Given the description of an element on the screen output the (x, y) to click on. 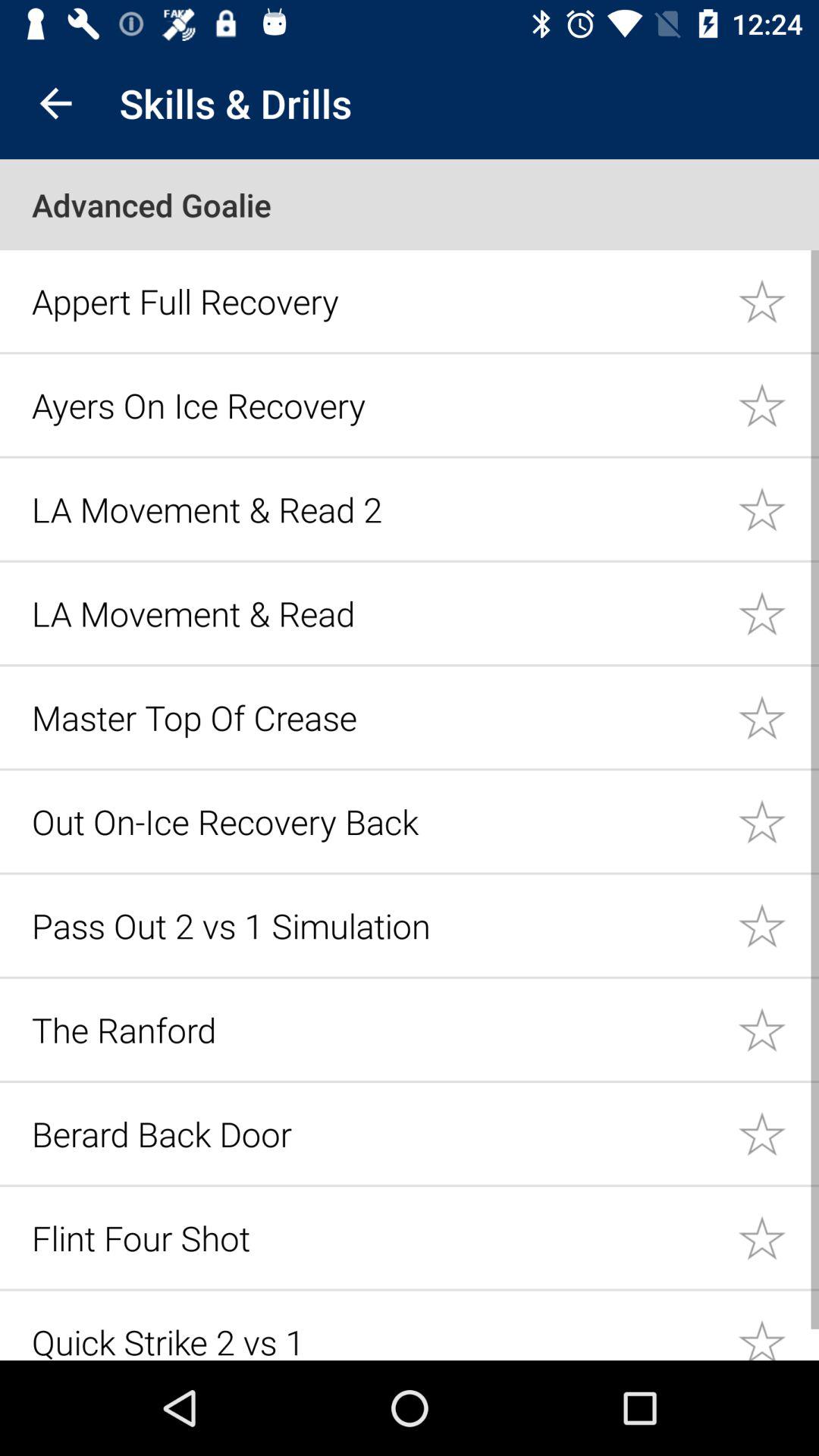
select pass out 2 vs 1 simulation (778, 925)
